Given the description of an element on the screen output the (x, y) to click on. 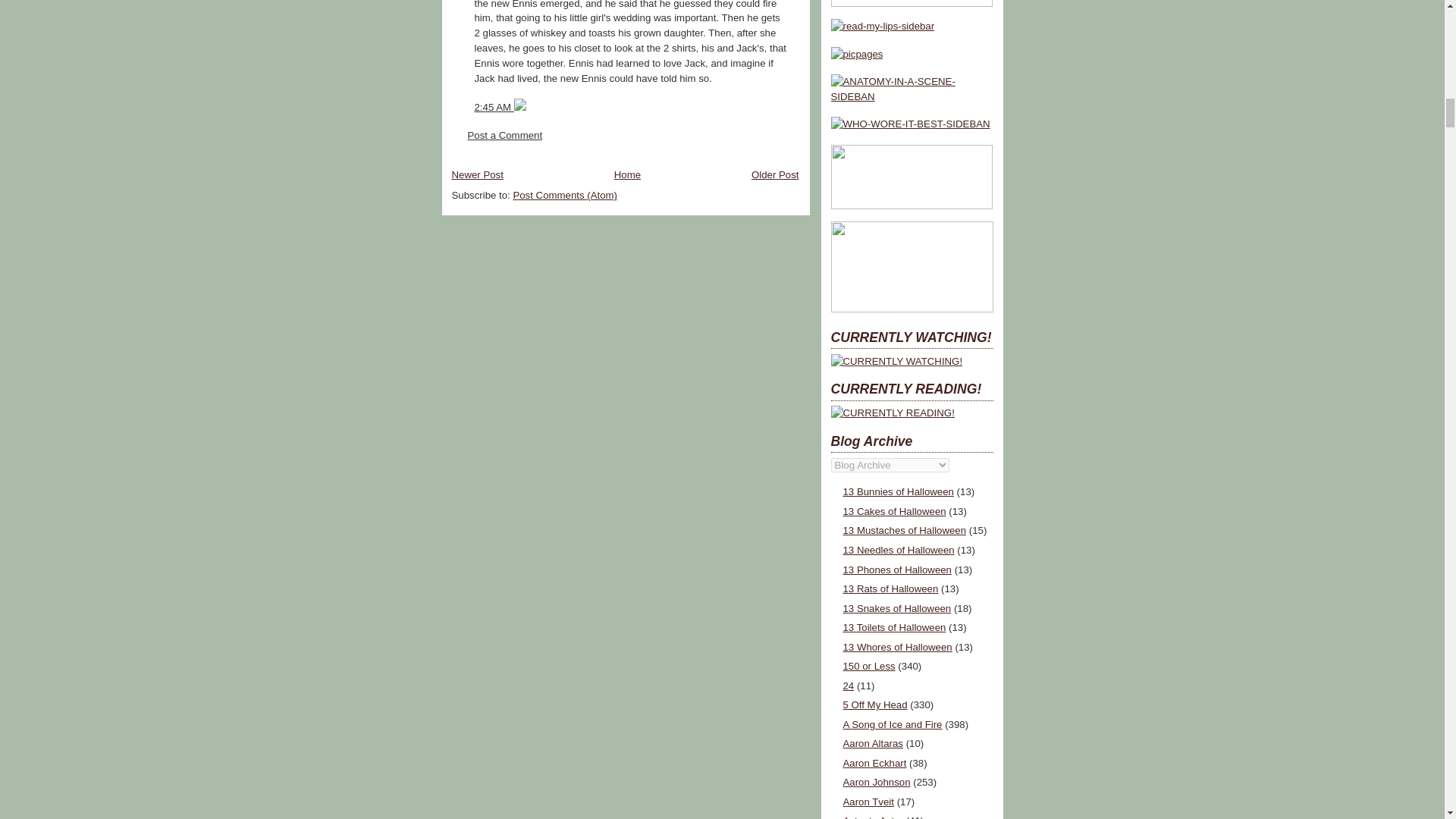
Newer Post (477, 174)
Older Post (775, 174)
Older Post (775, 174)
2:45 AM (493, 107)
Delete Comment (519, 107)
Post a Comment (504, 134)
comment permalink (493, 107)
Newer Post (477, 174)
Home (627, 174)
